Given the description of an element on the screen output the (x, y) to click on. 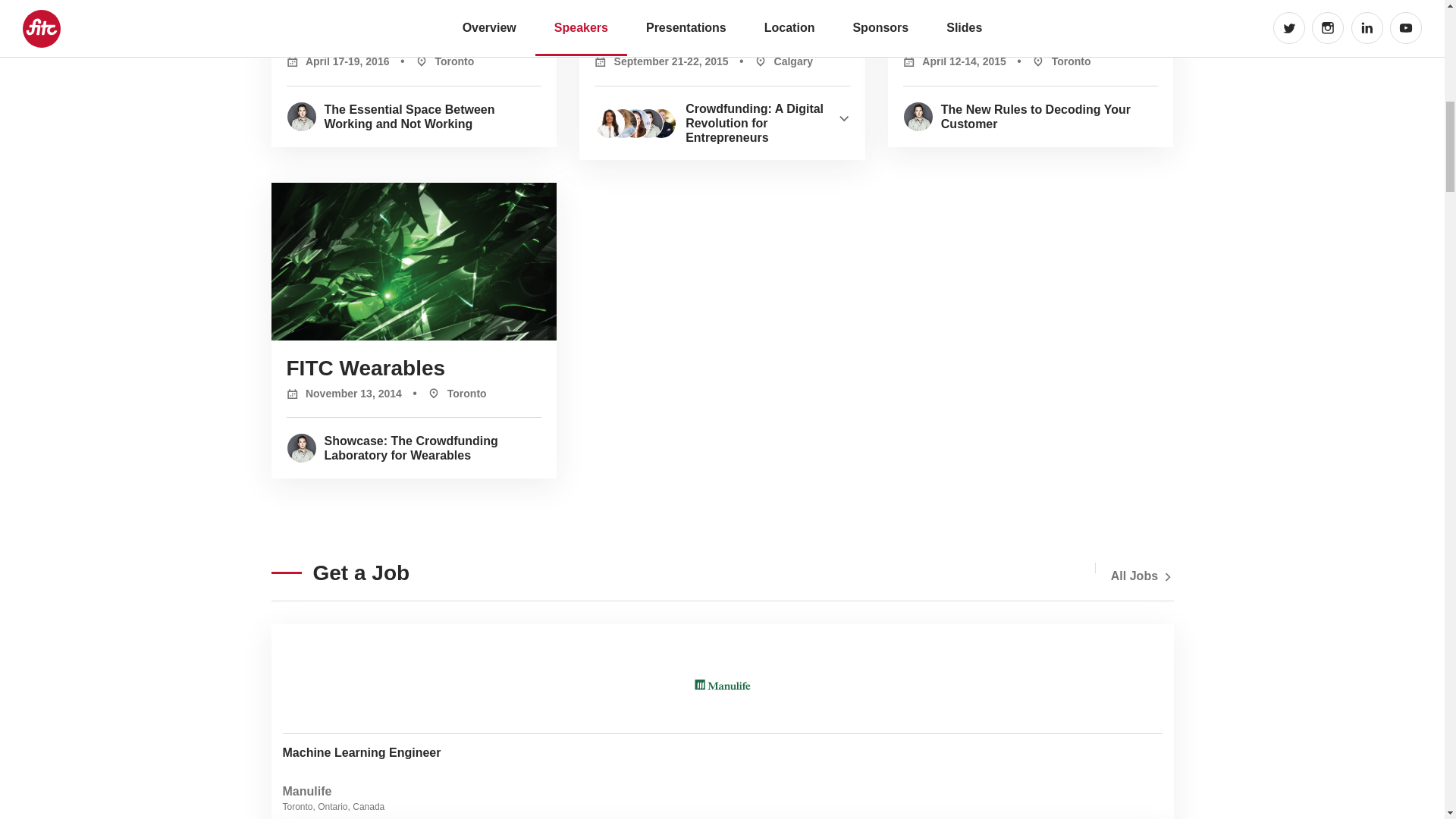
The Essential Space Between Working and Not Working (432, 116)
Sylvia Cheverie (622, 123)
Emily Hicks (635, 123)
Roger Jewett (661, 123)
Steve Tam (648, 123)
Toronto (1049, 60)
Neetu Sidhu (609, 123)
CAMP Festival 2015 (694, 36)
FITC Toronto 2016 (378, 36)
Crowdfunding: A Digital Revolution for Entrepreneurs (767, 123)
FITC Toronto 2015 (994, 36)
Toronto (433, 60)
